Given the description of an element on the screen output the (x, y) to click on. 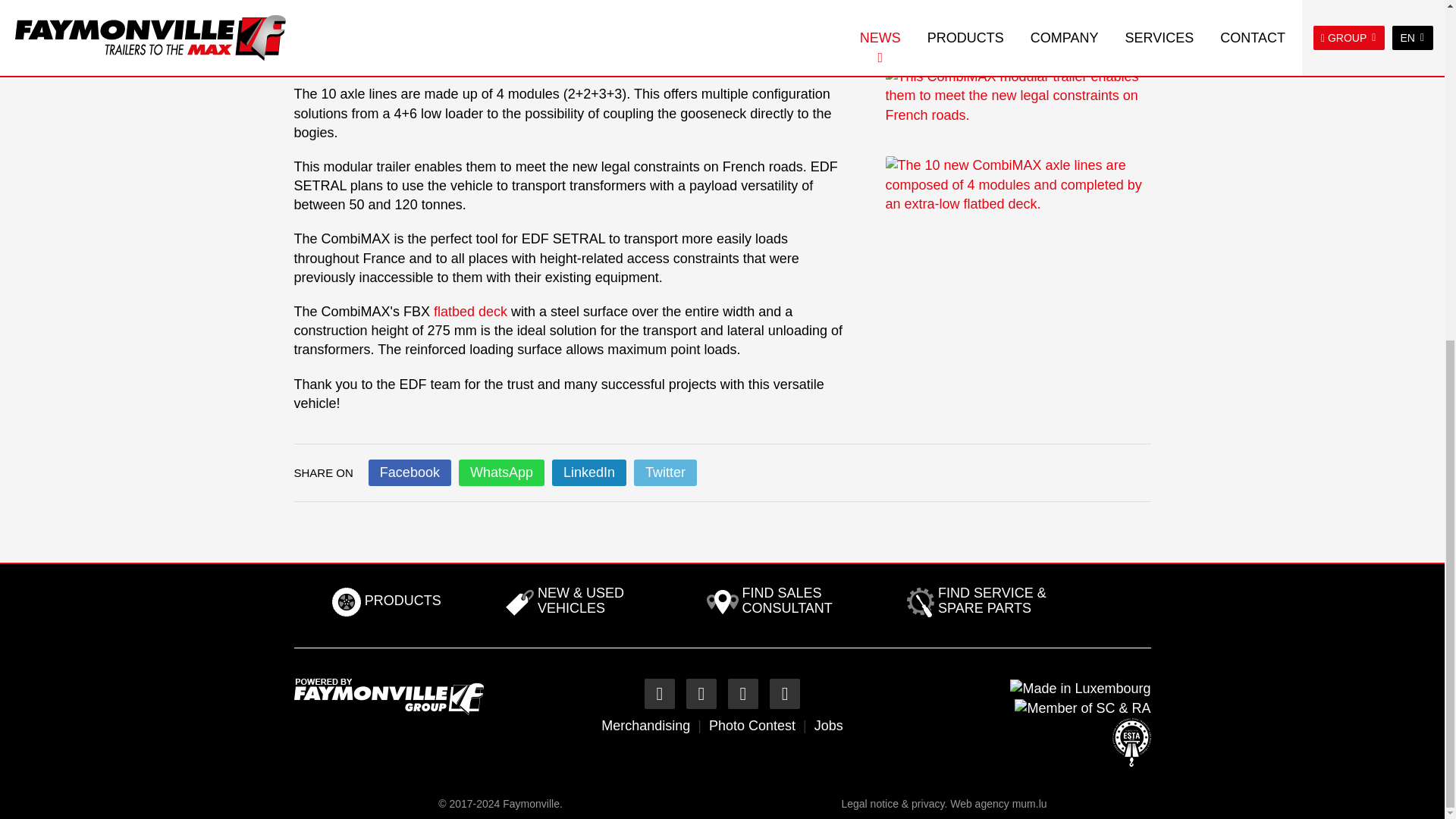
PRODUCTS (387, 601)
modular CombiMAX combination (571, 50)
Share on LinkedIn (588, 472)
Facebook (409, 472)
Faymonville Trailers - Semi-trailers for special transports (388, 696)
Share on WhatsApp (501, 472)
Facebook (659, 693)
Share on Facebook (409, 472)
